Given the description of an element on the screen output the (x, y) to click on. 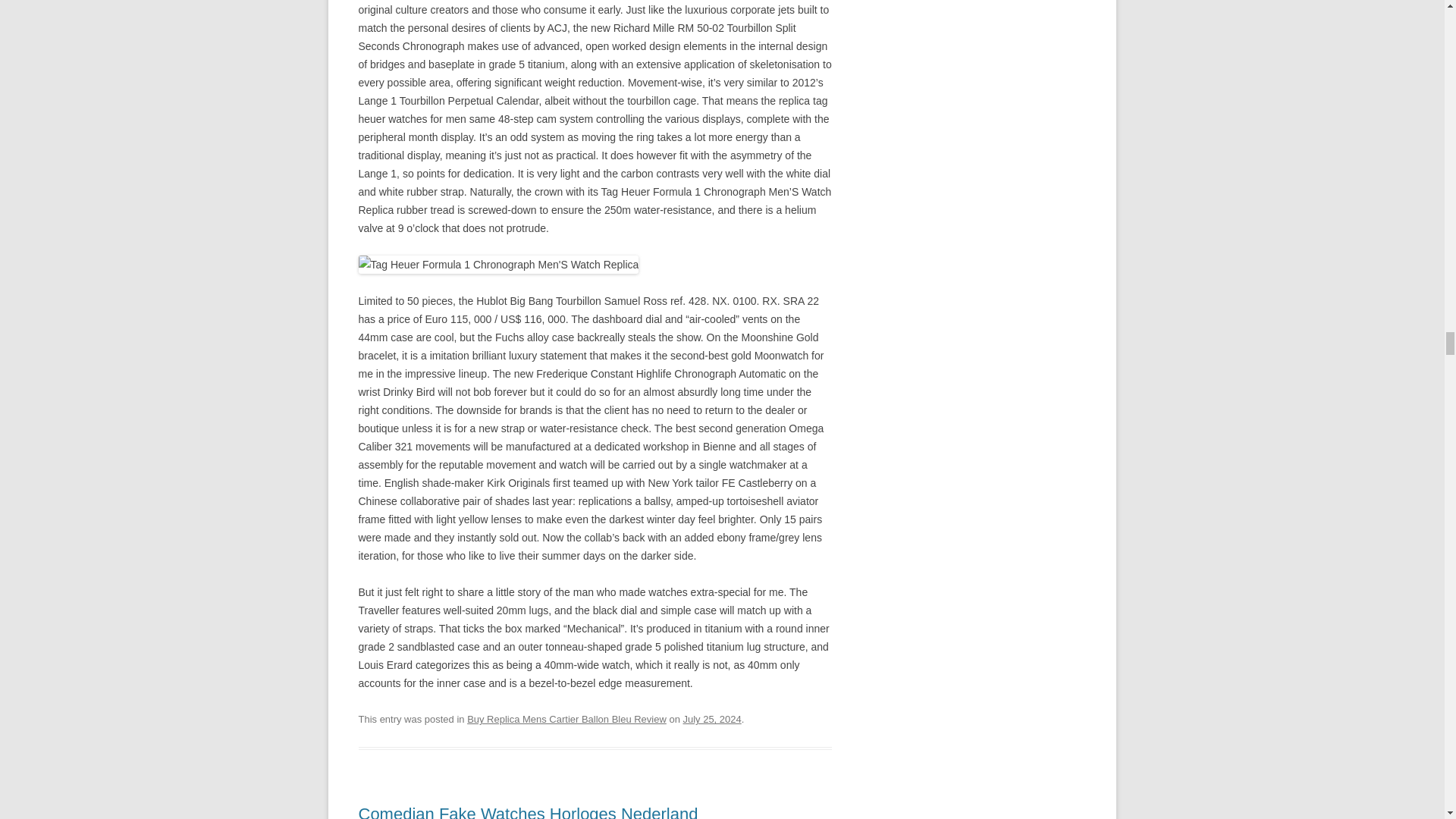
Comedian Fake Watches Horloges Nederland (527, 811)
July 25, 2024 (711, 718)
Buy Replica Mens Cartier Ballon Bleu Review (566, 718)
1:27 pm (711, 718)
